Given the description of an element on the screen output the (x, y) to click on. 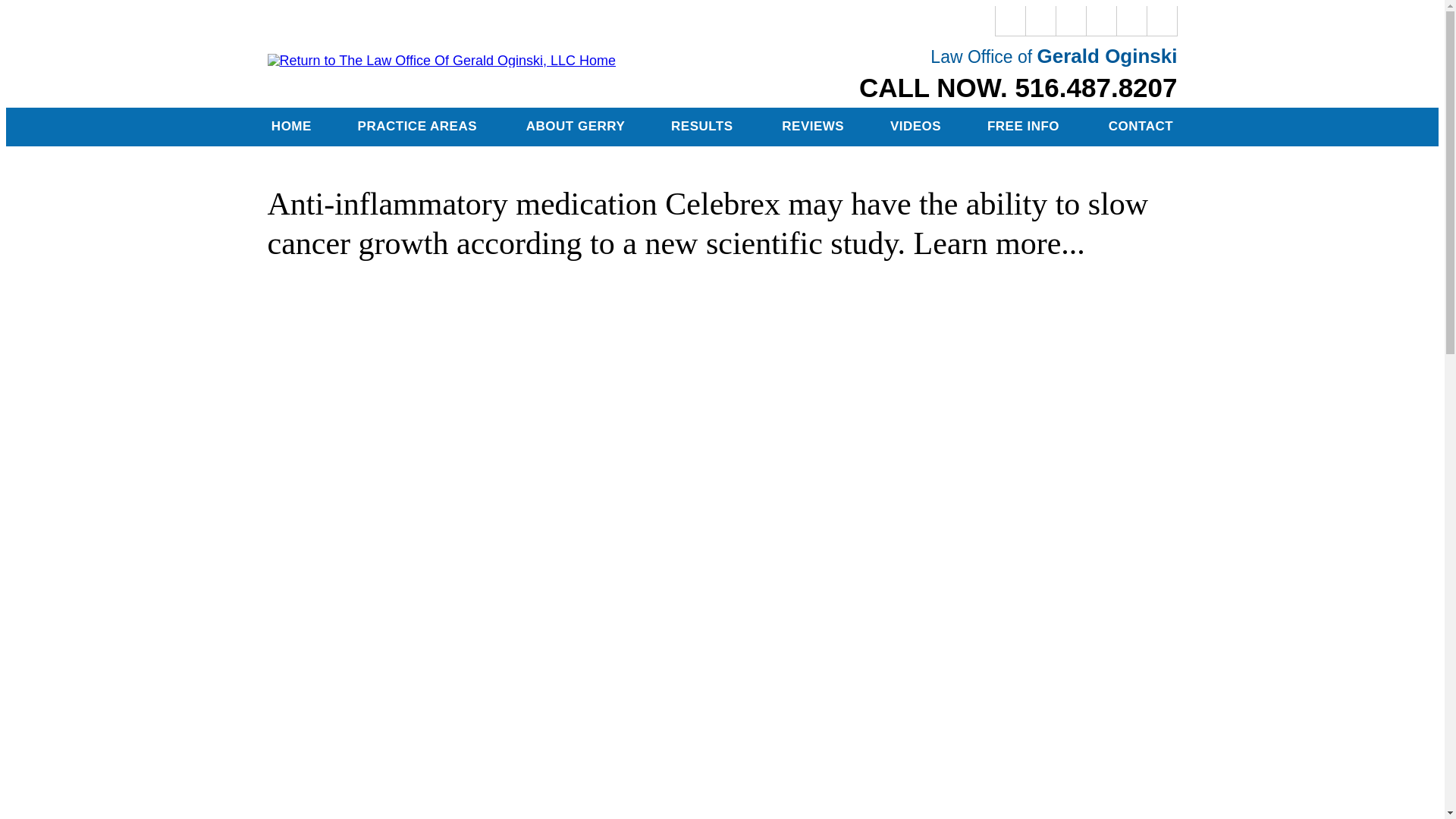
FREE INFO (1024, 126)
HOME (291, 126)
RESULTS (702, 126)
PRACTICE AREAS (418, 126)
VIDEOS (915, 126)
REVIEWS (812, 126)
Search (1161, 20)
CONTACT (1139, 126)
ABOUT GERRY (574, 126)
